Given the description of an element on the screen output the (x, y) to click on. 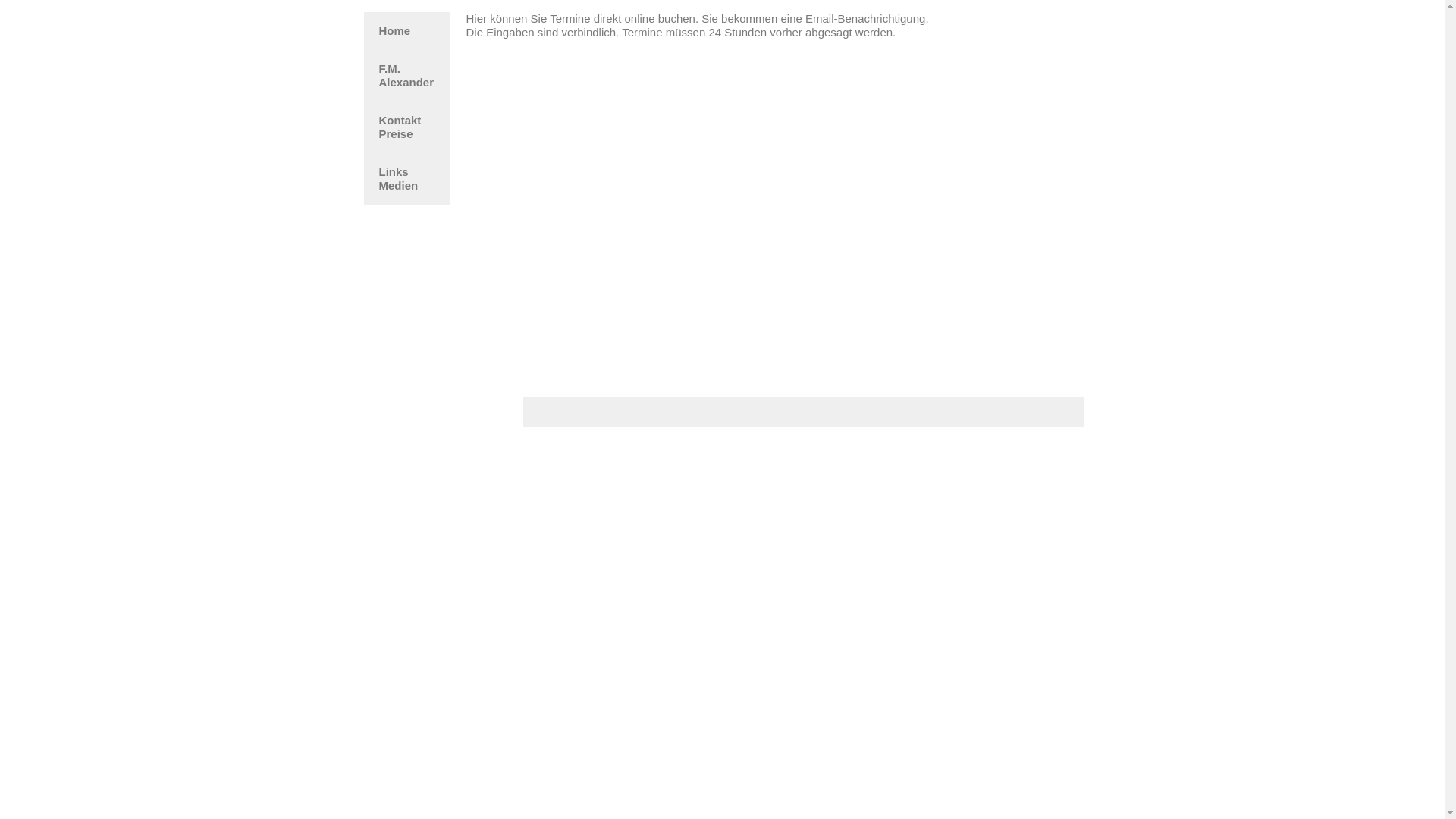
Links Medien Element type: text (406, 178)
F.M. Alexander Element type: text (406, 75)
Home Element type: text (406, 31)
Kontakt Preise Element type: text (406, 127)
